Given the description of an element on the screen output the (x, y) to click on. 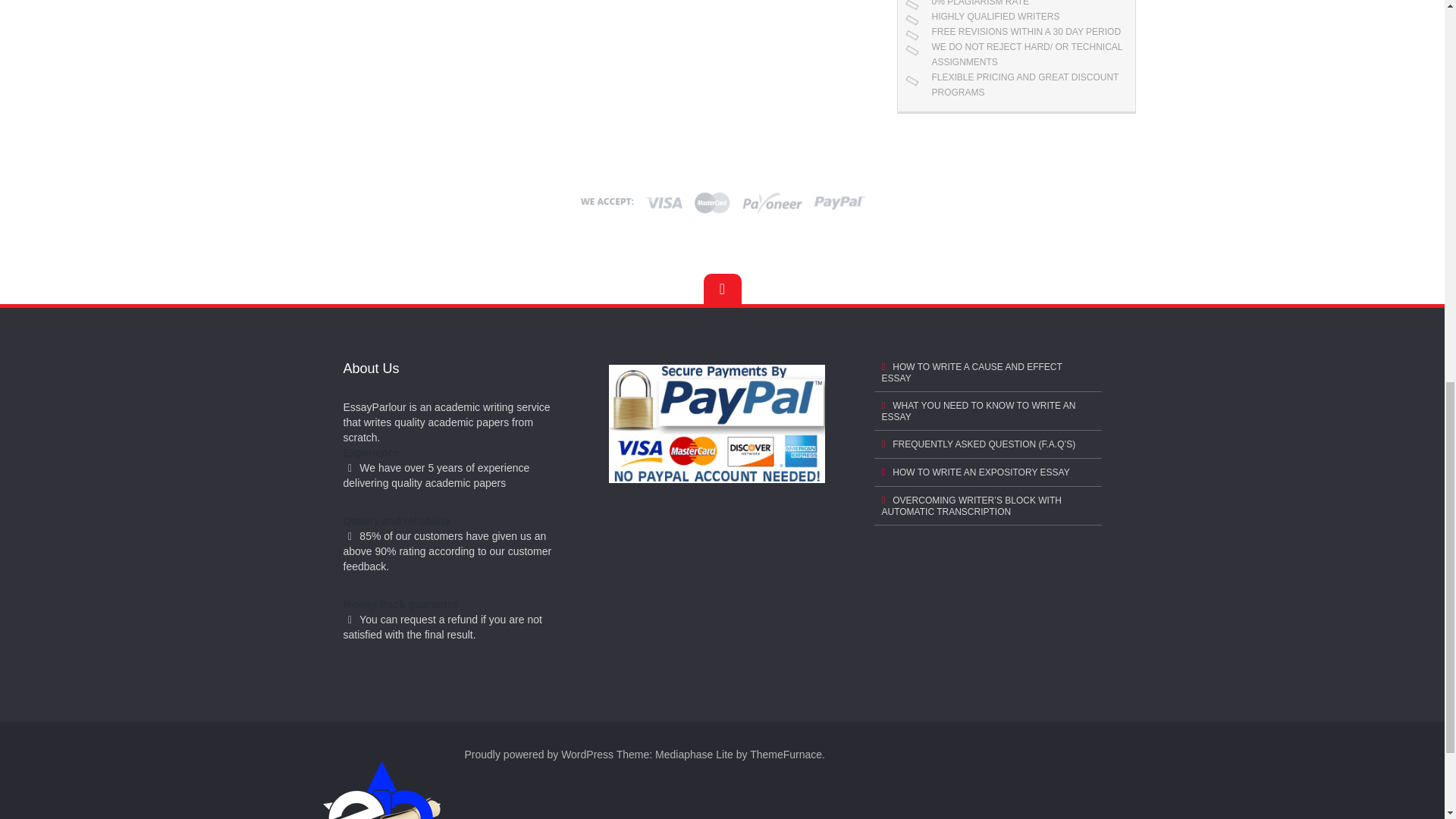
ThemeFurnace (785, 754)
HOW TO WRITE AN EXPOSITORY ESSAY (986, 472)
Proudly powered by WordPress (538, 754)
WHAT YOU NEED TO KNOW TO WRITE AN ESSAY (986, 411)
HOW TO WRITE A CAUSE AND EFFECT ESSAY (986, 372)
